Given the description of an element on the screen output the (x, y) to click on. 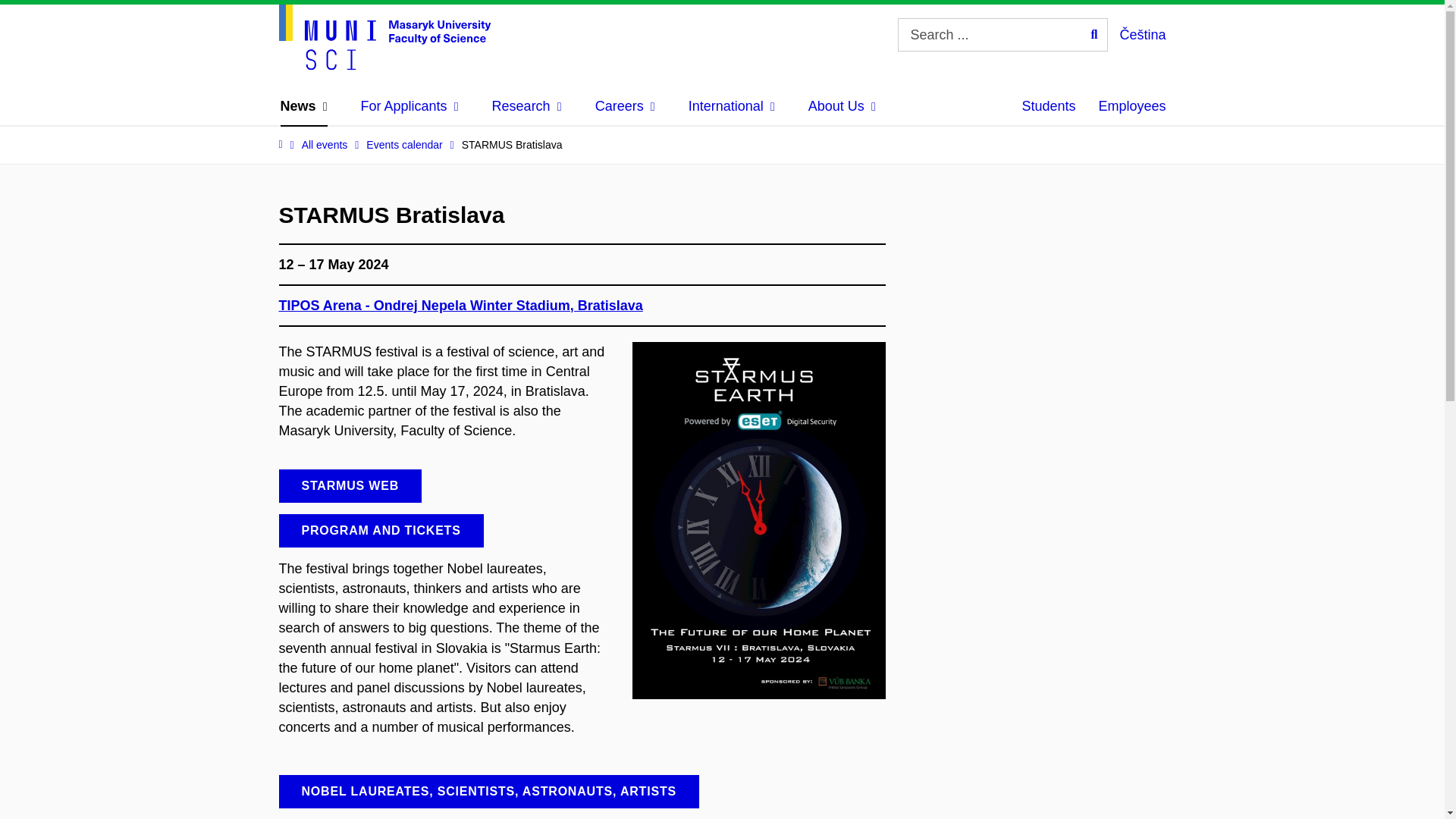
For Applicants (409, 105)
Homepage site (384, 36)
Careers (625, 105)
News (304, 105)
Research (527, 105)
Show full size image (758, 519)
